Given the description of an element on the screen output the (x, y) to click on. 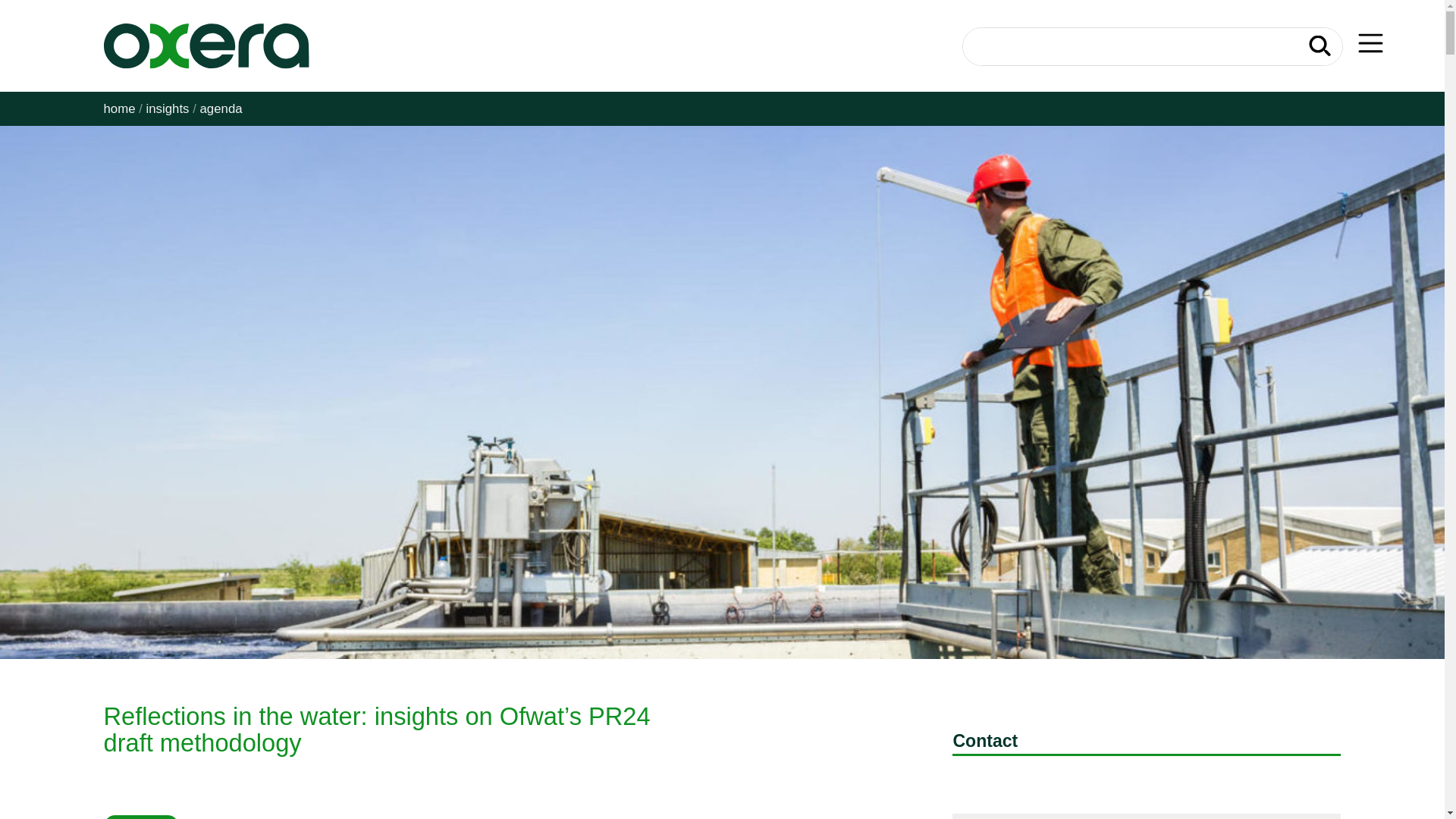
Search (1319, 45)
Oxera Home (205, 45)
Toggle navigation (1370, 42)
Submit (1319, 45)
Enter the terms you wish to search for. (1151, 46)
